Given the description of an element on the screen output the (x, y) to click on. 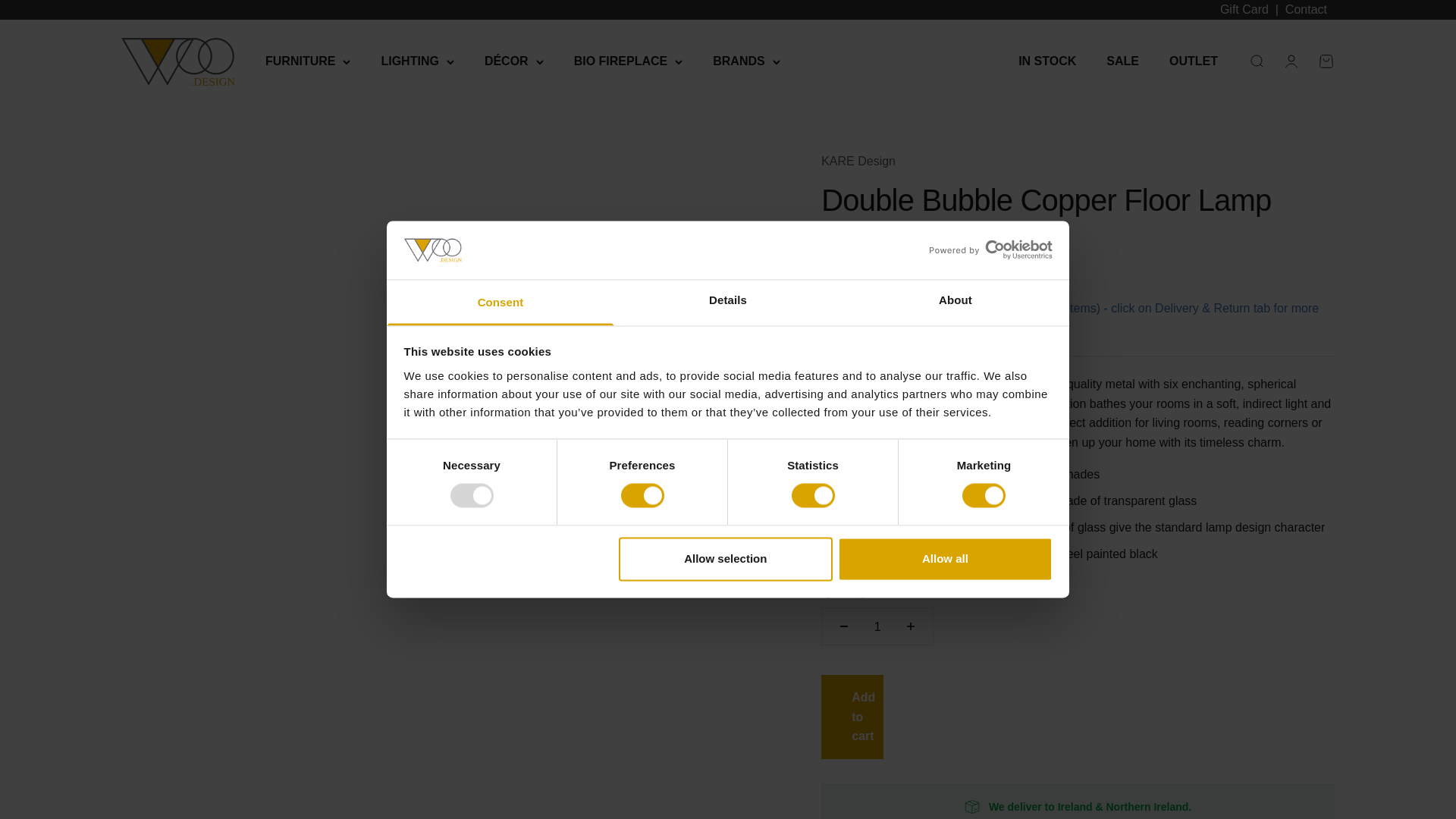
Details (727, 302)
About (954, 302)
Consent (500, 302)
